Given the description of an element on the screen output the (x, y) to click on. 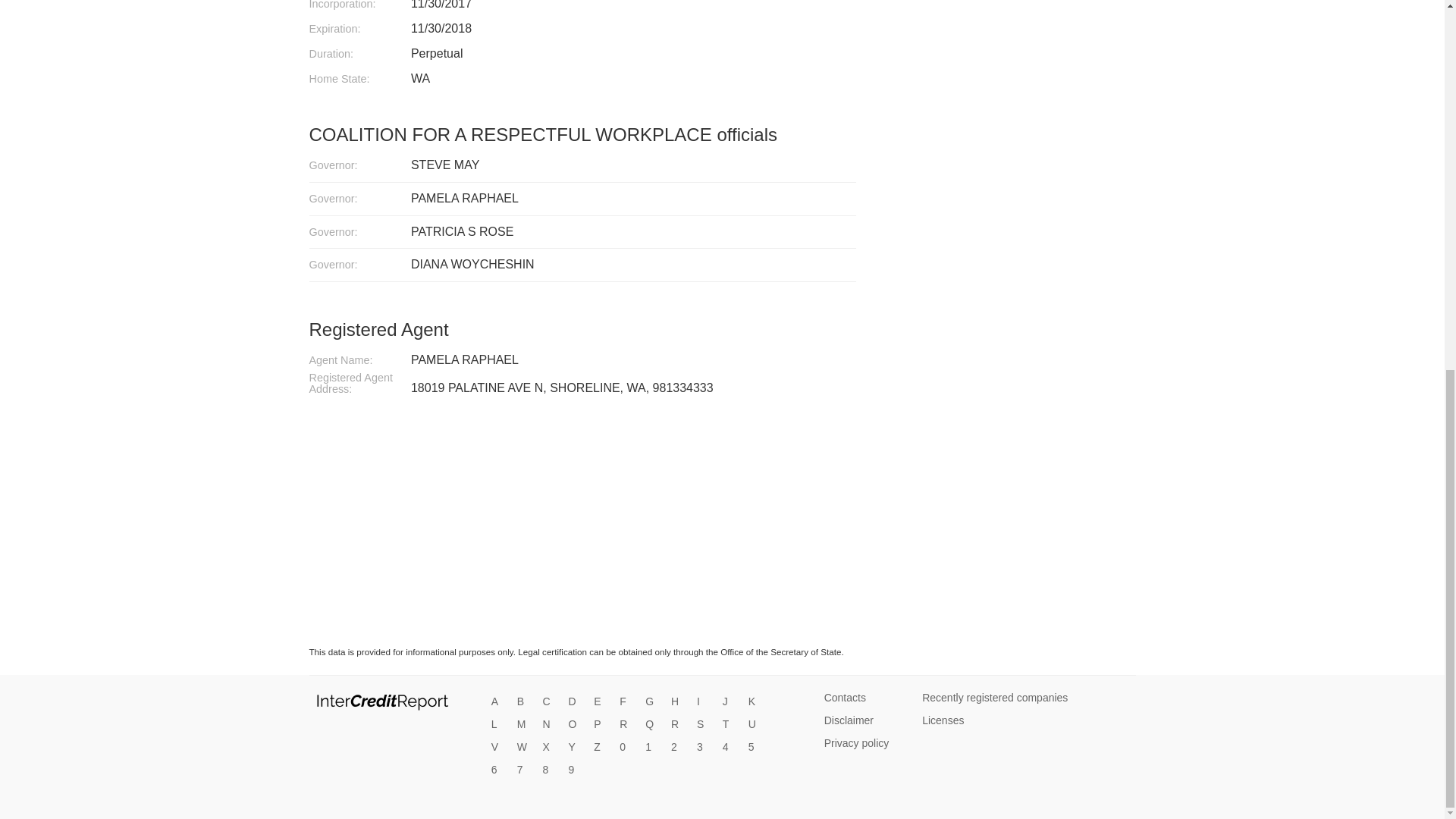
0 (627, 747)
N (550, 724)
2 (678, 747)
H (678, 702)
D (575, 702)
A (499, 702)
V (499, 747)
T (730, 724)
I (704, 702)
1 (653, 747)
Q (653, 724)
S (704, 724)
O (575, 724)
U (755, 724)
X (550, 747)
